Given the description of an element on the screen output the (x, y) to click on. 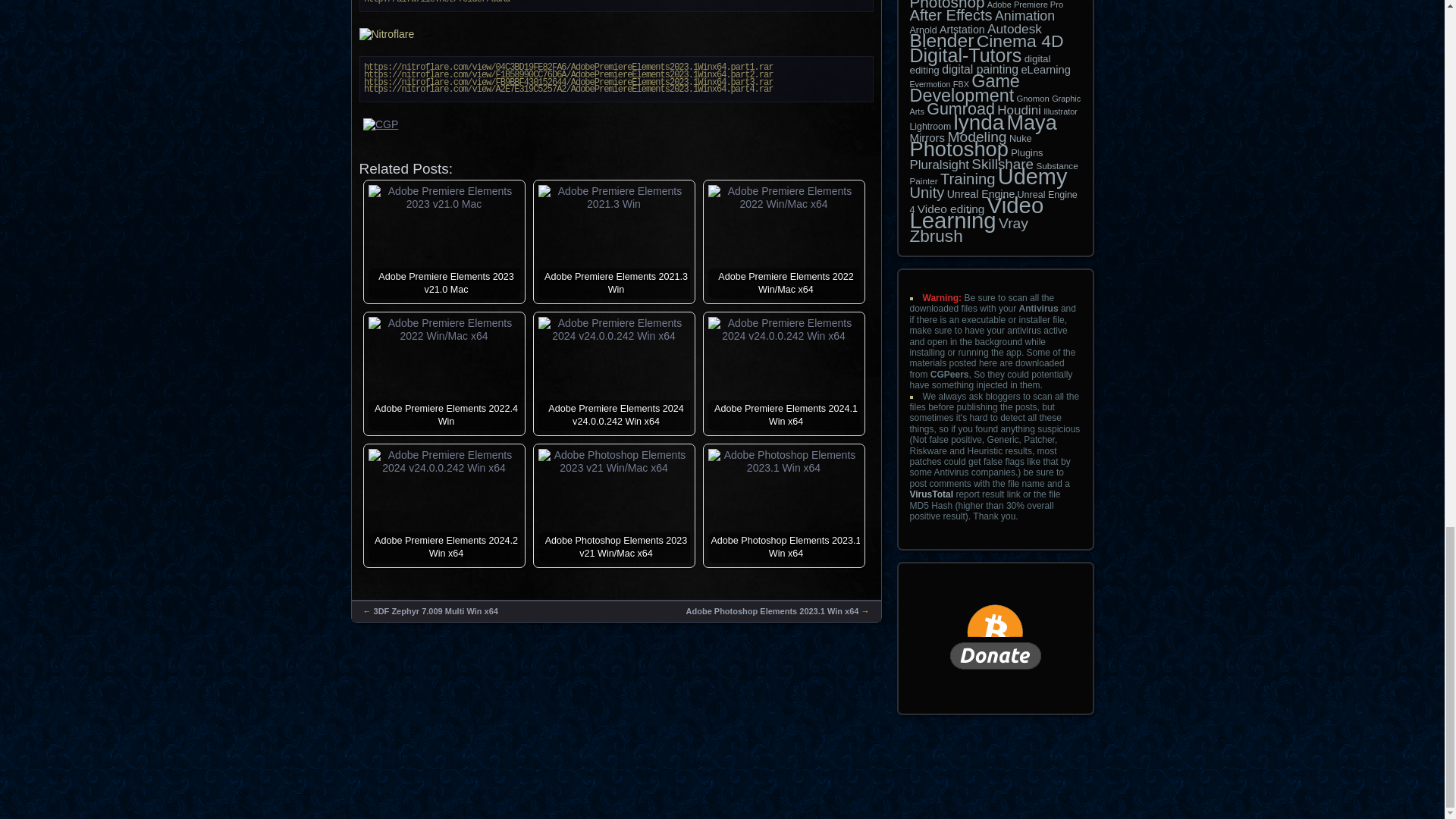
CGPersia (616, 131)
Adobe Premiere Elements 2024 v24.0.0.242 Win x64 (783, 329)
Adobe Premiere Elements 2024 v24.0.0.242 Win x64 (614, 329)
Adobe Premiere Elements 2021.3 Win (614, 197)
Adobe Premiere Elements 2024 v24.0.0.242 Win x64 (443, 461)
Adobe Premiere Elements 2023 v21.0 Mac (443, 197)
Adobe Photoshop Elements 2023.1 Win x64 (783, 461)
